Given the description of an element on the screen output the (x, y) to click on. 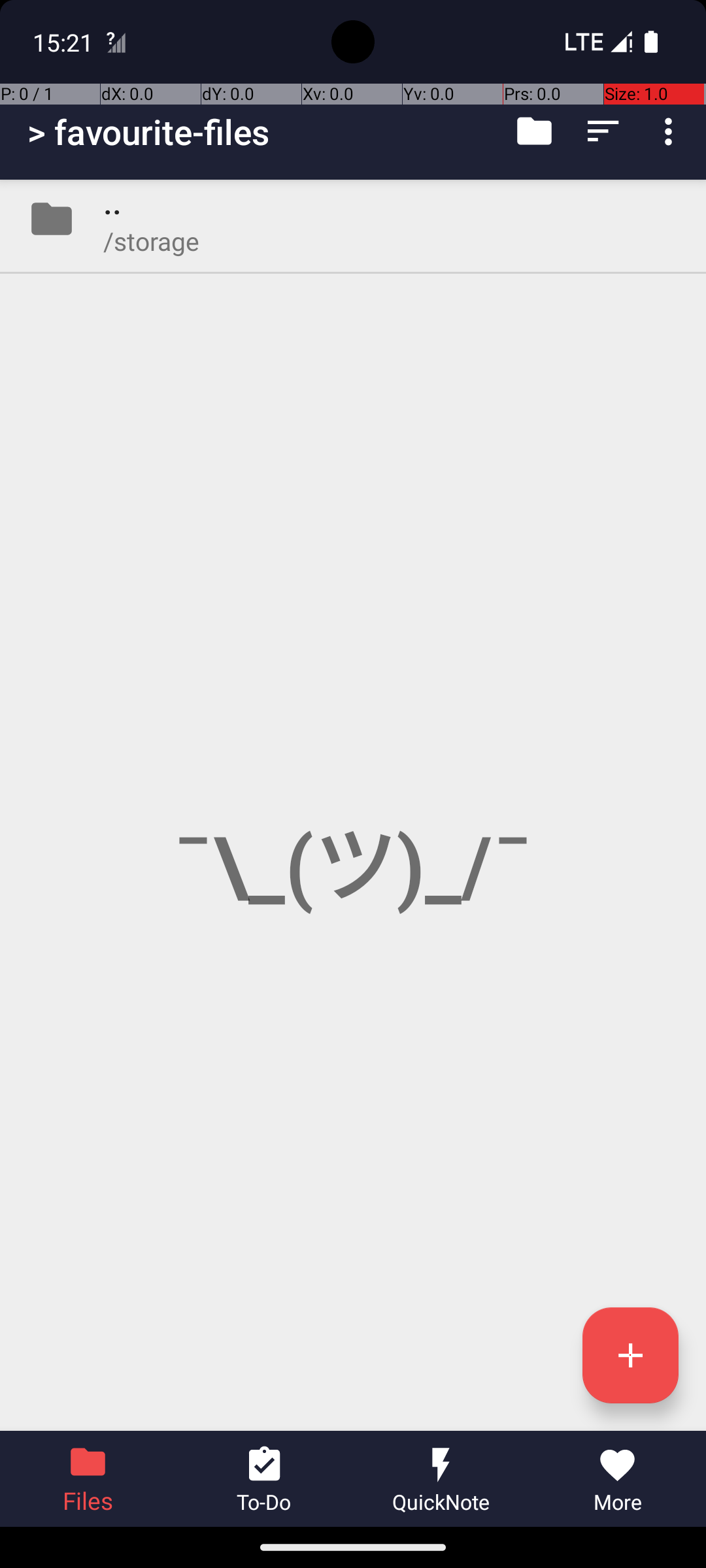
> favourite-files Element type: android.widget.TextView (148, 131)
Folder .. 10/16/2023, 10:33 Element type: android.widget.LinearLayout (353, 218)
15:21 Element type: android.widget.TextView (64, 41)
